Given the description of an element on the screen output the (x, y) to click on. 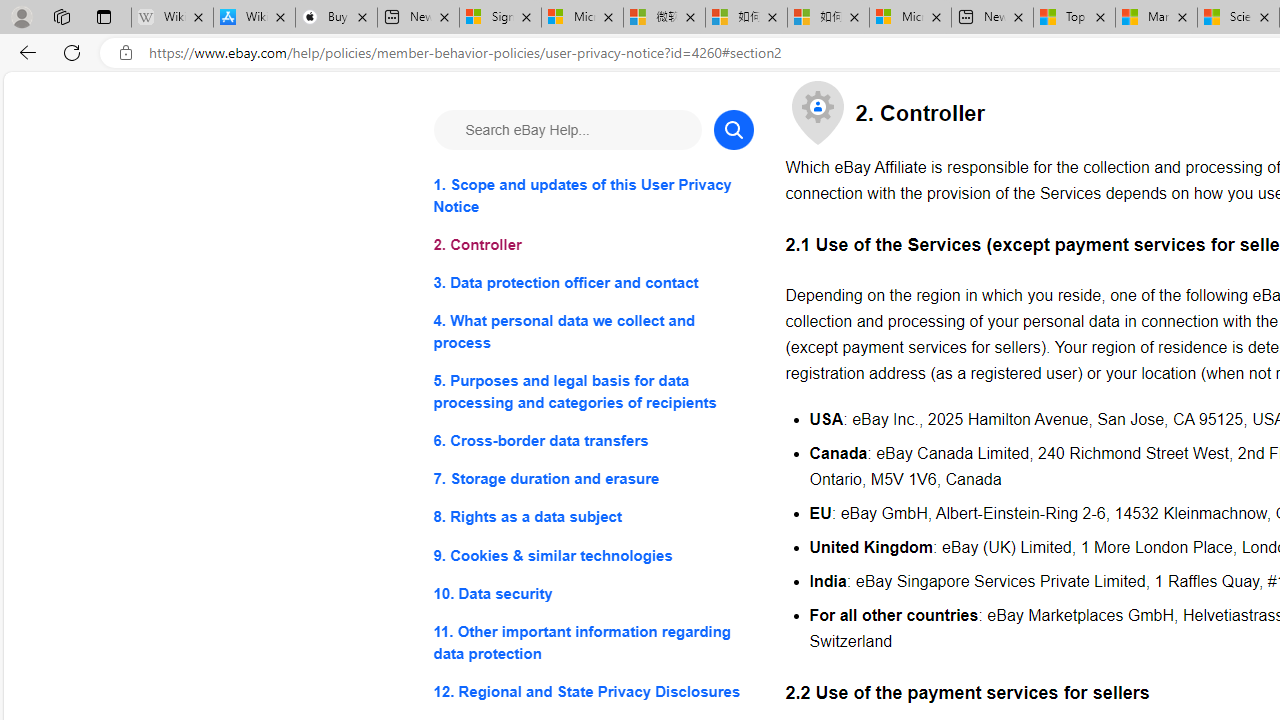
8. Rights as a data subject (592, 517)
Top Stories - MSN (1074, 17)
View site information (125, 53)
Marine life - MSN (1156, 17)
12. Regional and State Privacy Disclosures (592, 690)
11. Other important information regarding data protection (592, 642)
10. Data security (592, 592)
11. Other important information regarding data protection (592, 642)
2. Controller (592, 245)
9. Cookies & similar technologies (592, 555)
Back (24, 52)
Search (732, 129)
Search eBay Help... (566, 129)
